Given the description of an element on the screen output the (x, y) to click on. 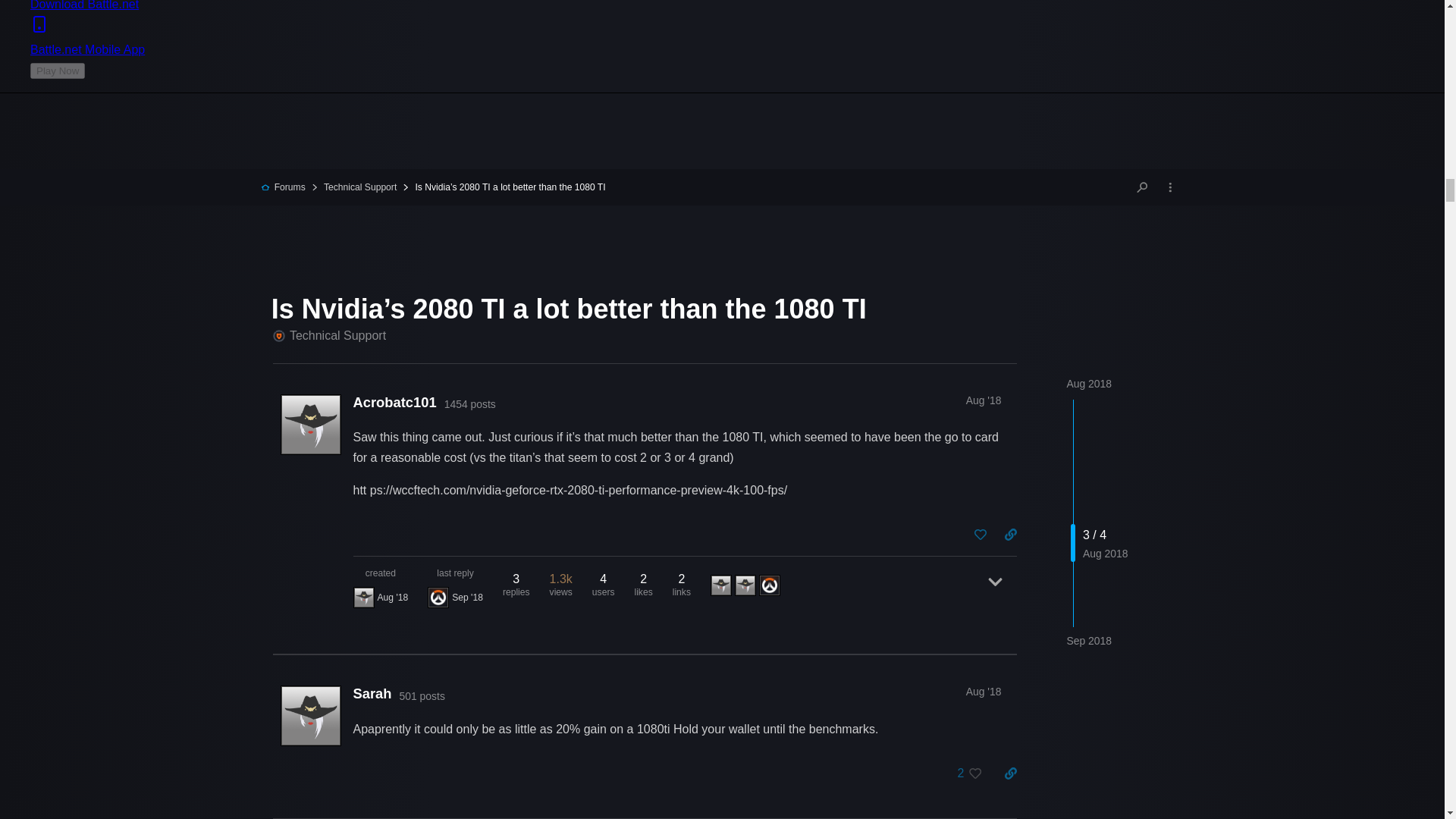
Forums (282, 186)
Aug '18 (983, 691)
Sep 2018 (1088, 641)
last reply (454, 573)
like this post (979, 534)
Acrobatc101 (363, 597)
deltaminds (437, 597)
Aug 22, 2018 6:08 am (393, 597)
Post date (983, 399)
Aug 2018 (1088, 383)
Technical Support (330, 335)
Sep 6, 2018 9:01 pm (467, 597)
Acrobatc101 (394, 401)
Technical Support (353, 186)
Sarah (372, 693)
